Given the description of an element on the screen output the (x, y) to click on. 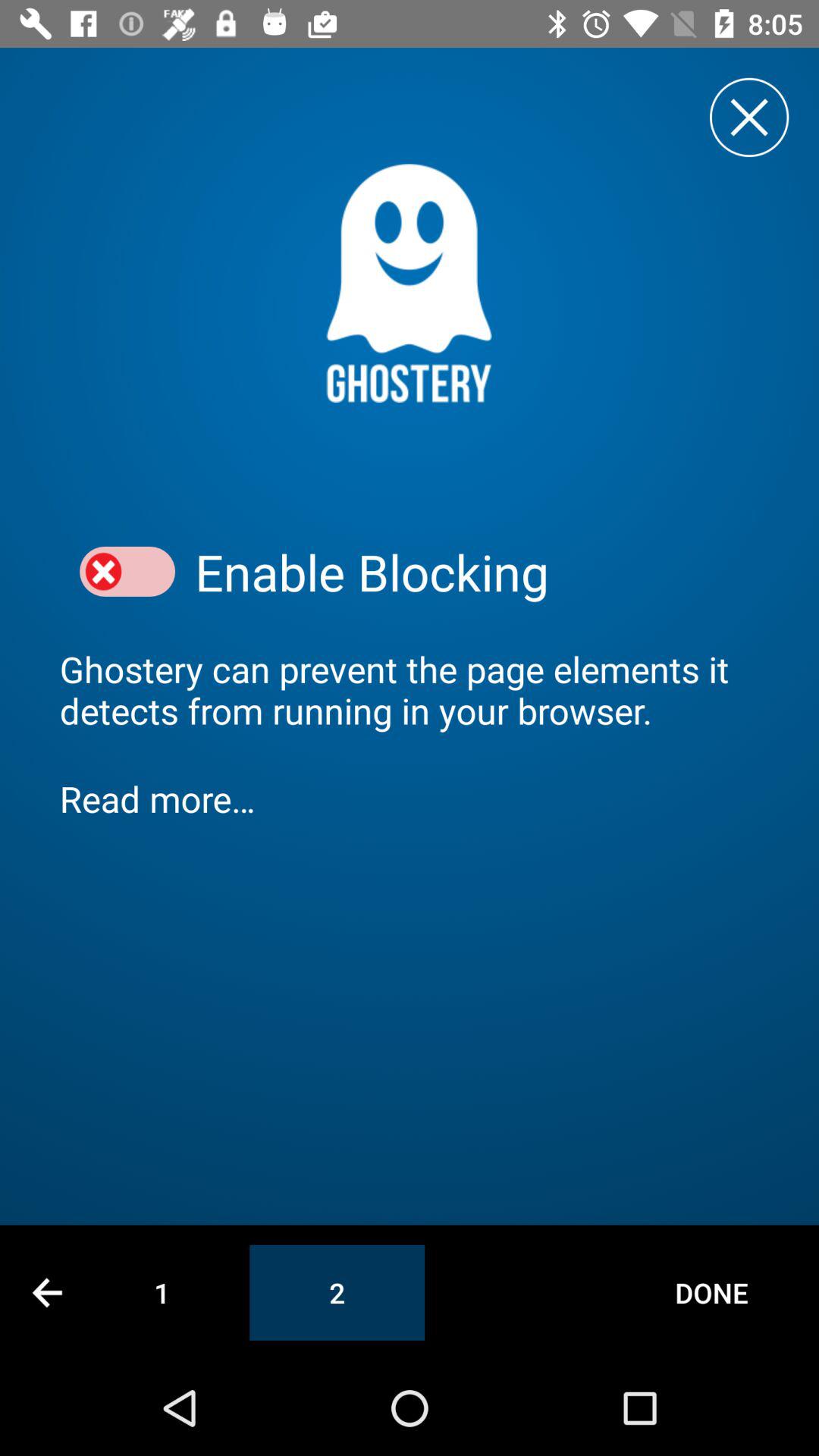
exit page (749, 117)
